Given the description of an element on the screen output the (x, y) to click on. 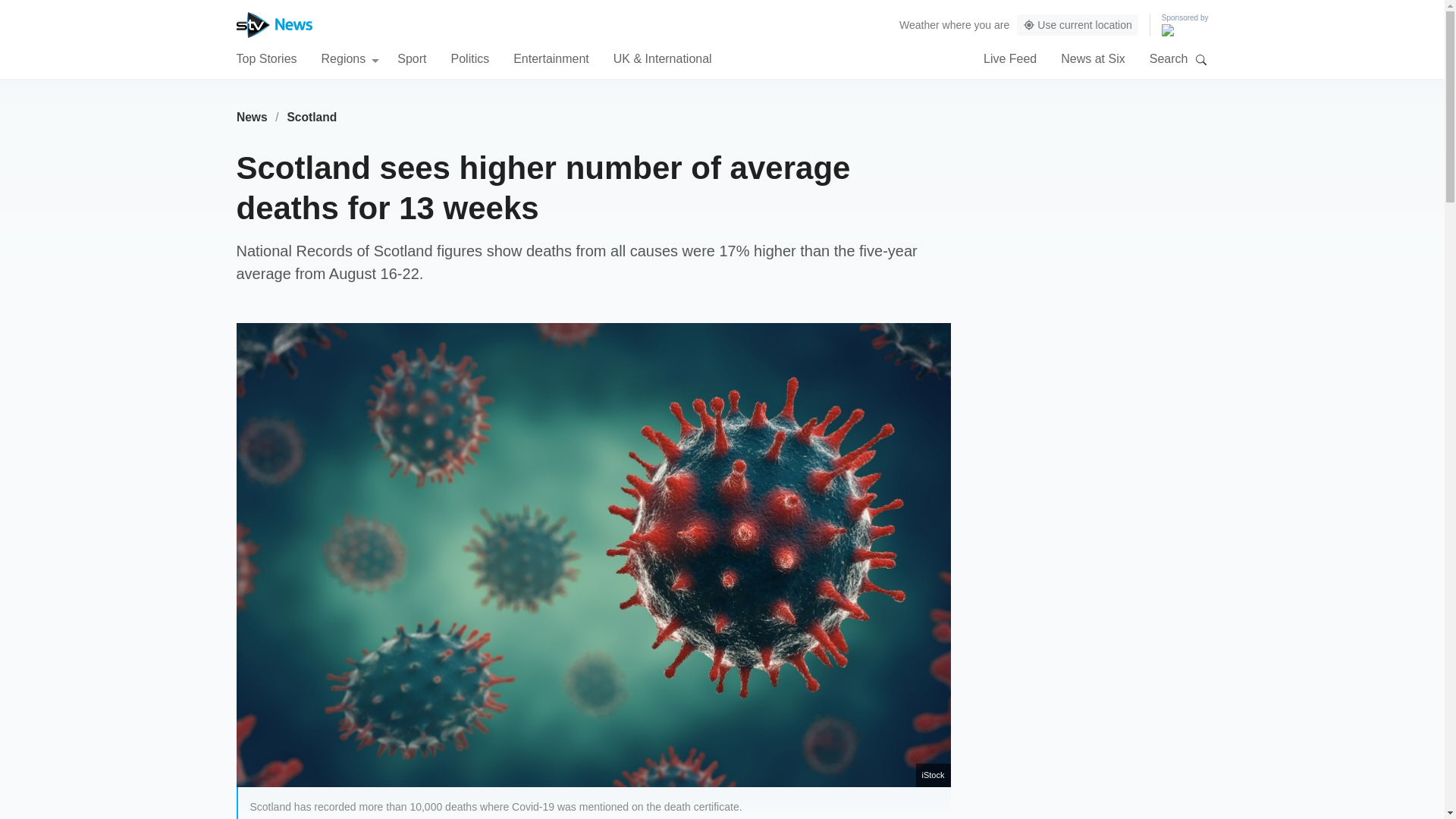
Search (1201, 59)
News (252, 116)
Top Stories (266, 57)
Use current location (1077, 25)
News at Six (1092, 57)
Weather (919, 24)
Live Feed (1010, 57)
Politics (469, 57)
Scotland (312, 116)
Regions (350, 57)
